Given the description of an element on the screen output the (x, y) to click on. 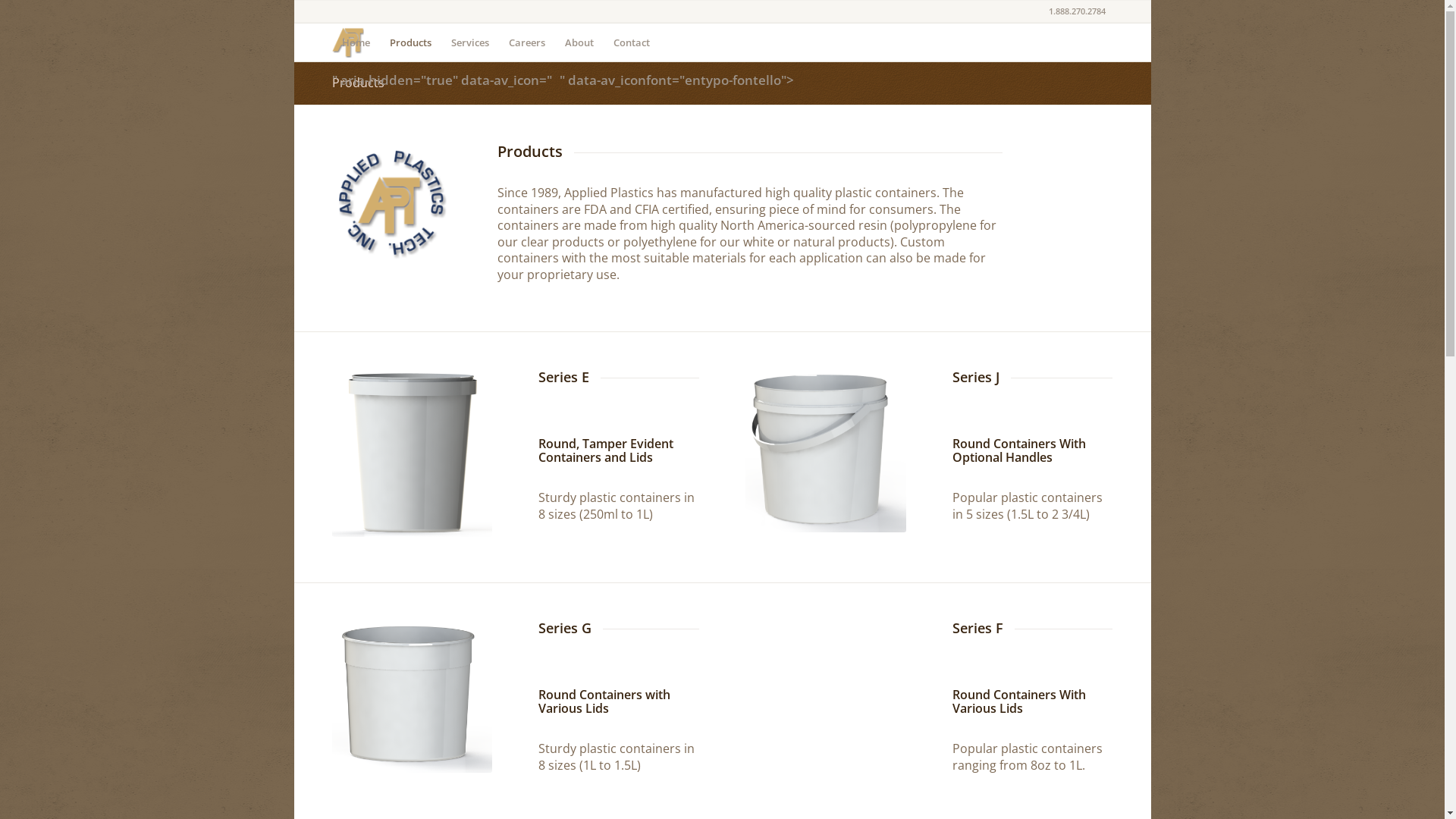
Contact Element type: text (631, 42)
Products Element type: text (409, 42)
J-Series-PNG Element type: hover (825, 451)
APT-Logo-Header Element type: hover (391, 202)
Home Element type: text (355, 42)
Careers Element type: text (526, 42)
About Element type: text (579, 42)
Services Element type: text (469, 42)
E-Series-PNG Element type: hover (412, 453)
G-Series-PNG Element type: hover (412, 697)
Products Element type: text (358, 82)
